Given the description of an element on the screen output the (x, y) to click on. 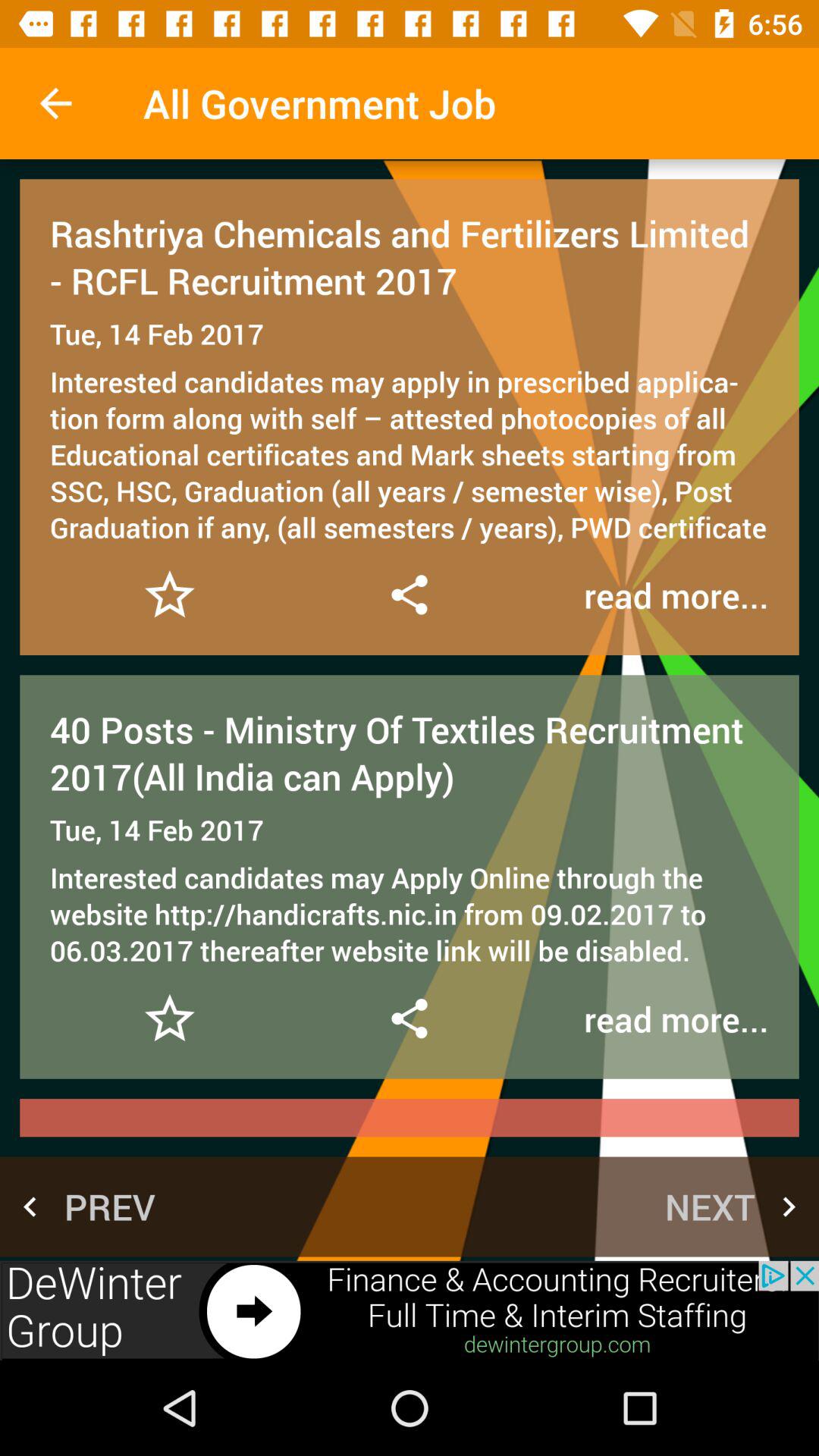
know about the advertisement (409, 1310)
